Given the description of an element on the screen output the (x, y) to click on. 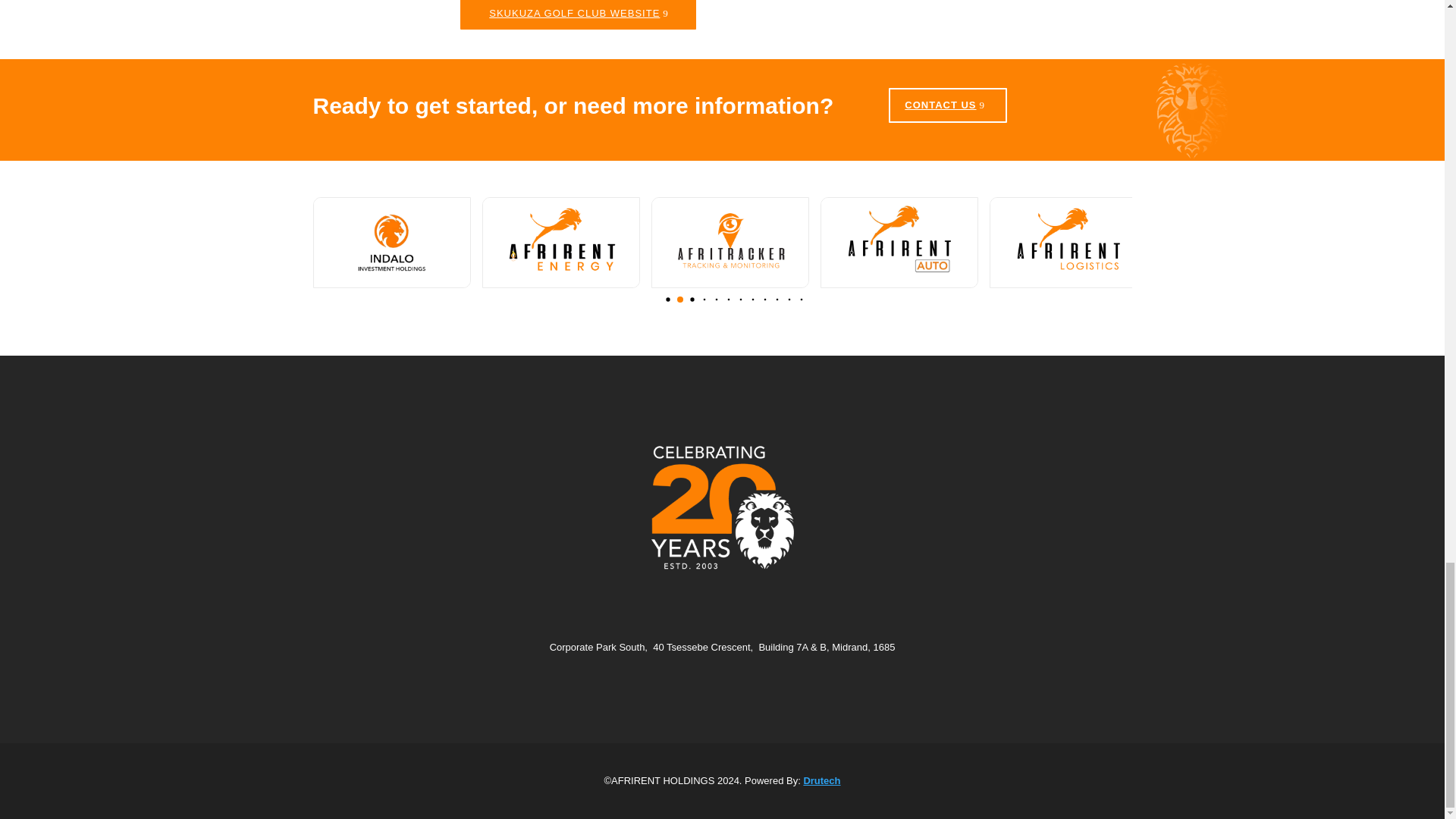
Afrirent Holdings - 20 Year Anniversary (721, 506)
